Given the description of an element on the screen output the (x, y) to click on. 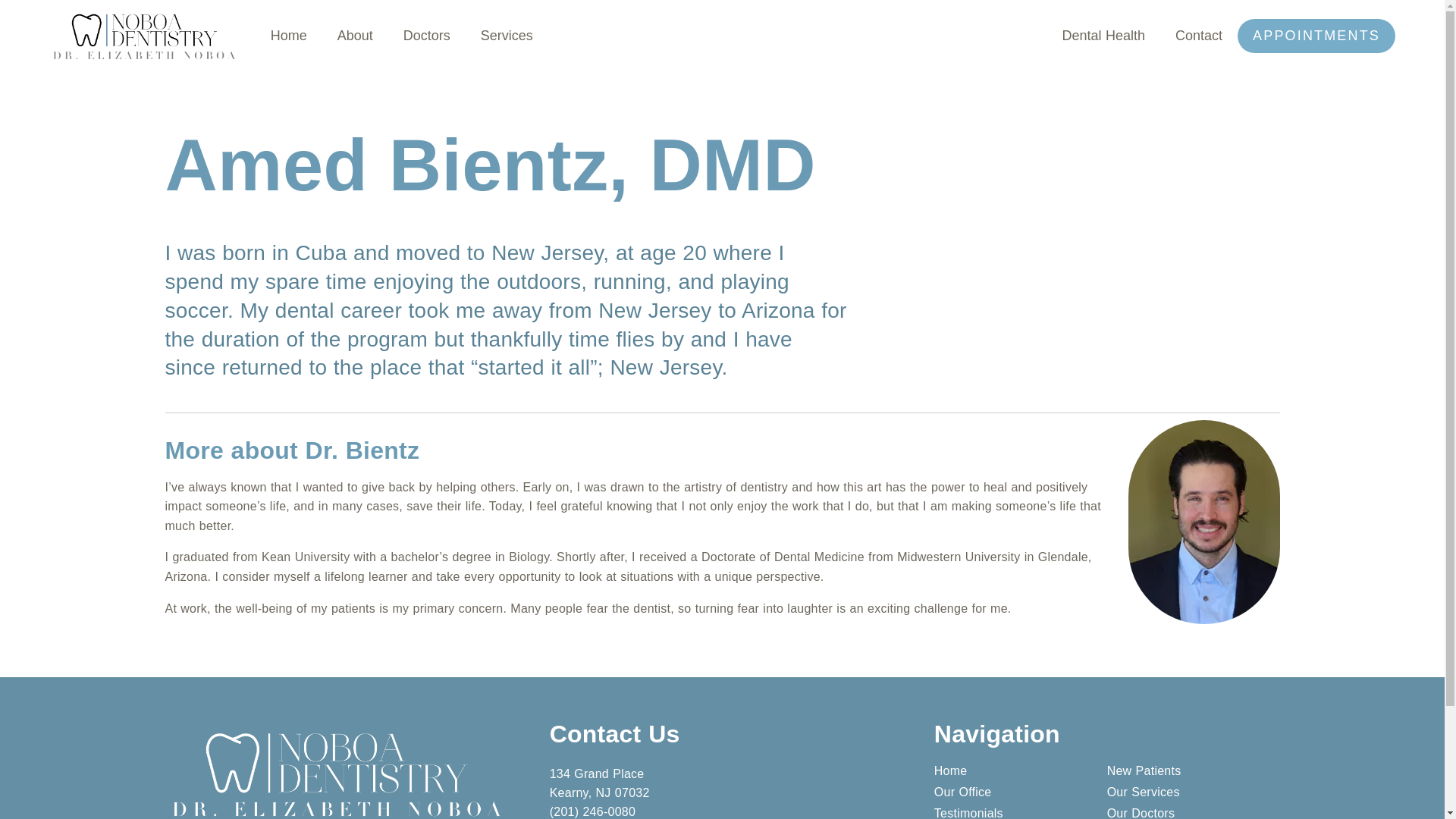
Home (288, 35)
Services (506, 35)
Contact (1198, 35)
Our Doctors (1192, 812)
Home (1020, 771)
APPOINTMENTS (1316, 35)
Doctors (426, 35)
Our Services (1192, 792)
Dental Health (1102, 35)
Our Office (1020, 792)
